Given the description of an element on the screen output the (x, y) to click on. 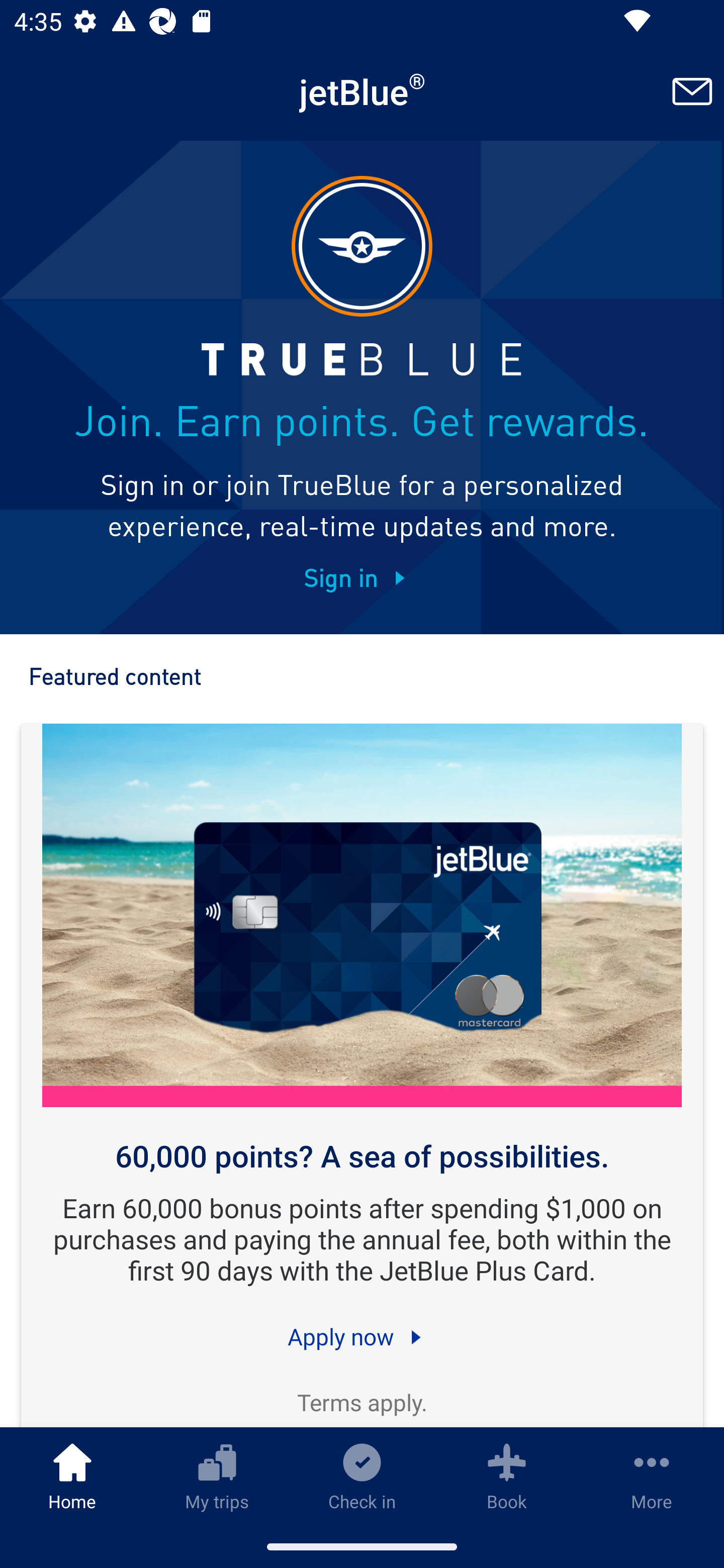
Apply now (361, 1336)
My trips (216, 1475)
Check in (361, 1475)
Book (506, 1475)
More (651, 1475)
